Given the description of an element on the screen output the (x, y) to click on. 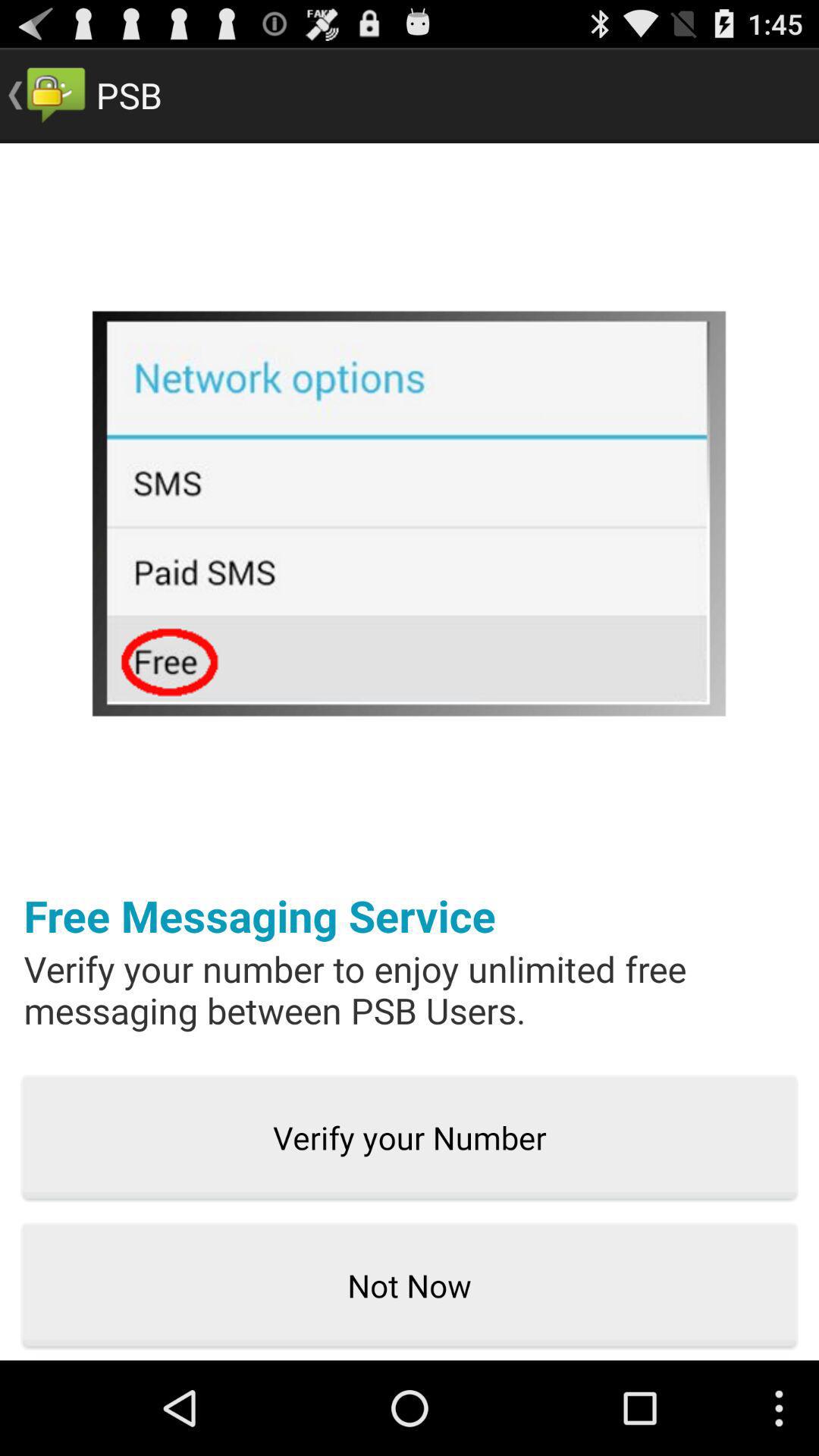
swipe until not now button (409, 1286)
